Given the description of an element on the screen output the (x, y) to click on. 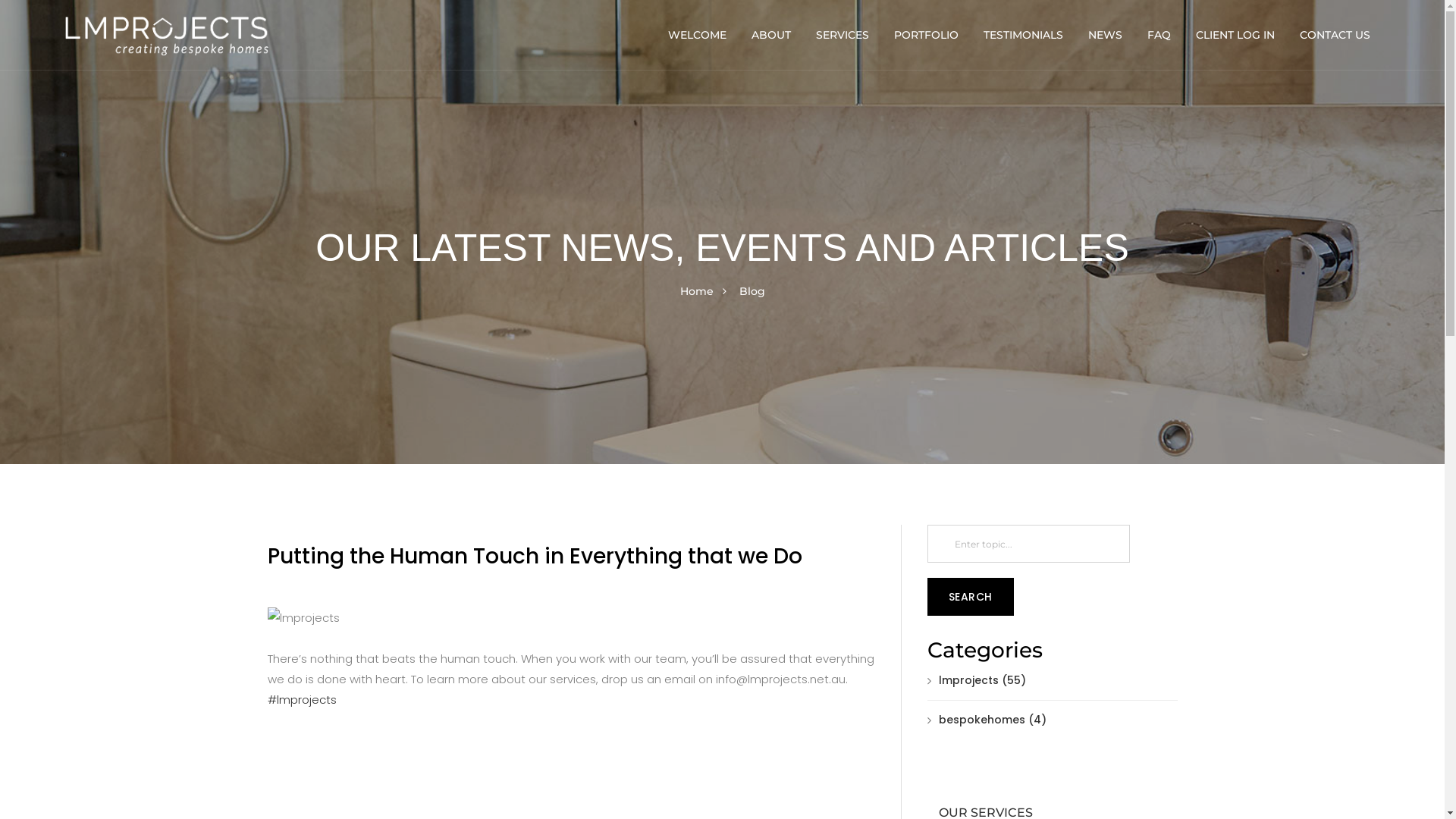
TESTIMONIALS Element type: text (1021, 34)
CONTACT US Element type: text (1333, 34)
CLIENT LOG IN Element type: text (1234, 34)
Search Element type: text (969, 596)
WELCOME Element type: text (696, 34)
FAQ Element type: text (1157, 34)
NEWS Element type: text (1103, 34)
SERVICES Element type: text (841, 34)
lmprojects (55) Element type: text (975, 679)
#lmprojects Element type: text (300, 699)
bespokehomes (4) Element type: text (985, 719)
ABOUT Element type: text (769, 34)
PORTFOLIO Element type: text (925, 34)
Home Element type: text (695, 291)
